Given the description of an element on the screen output the (x, y) to click on. 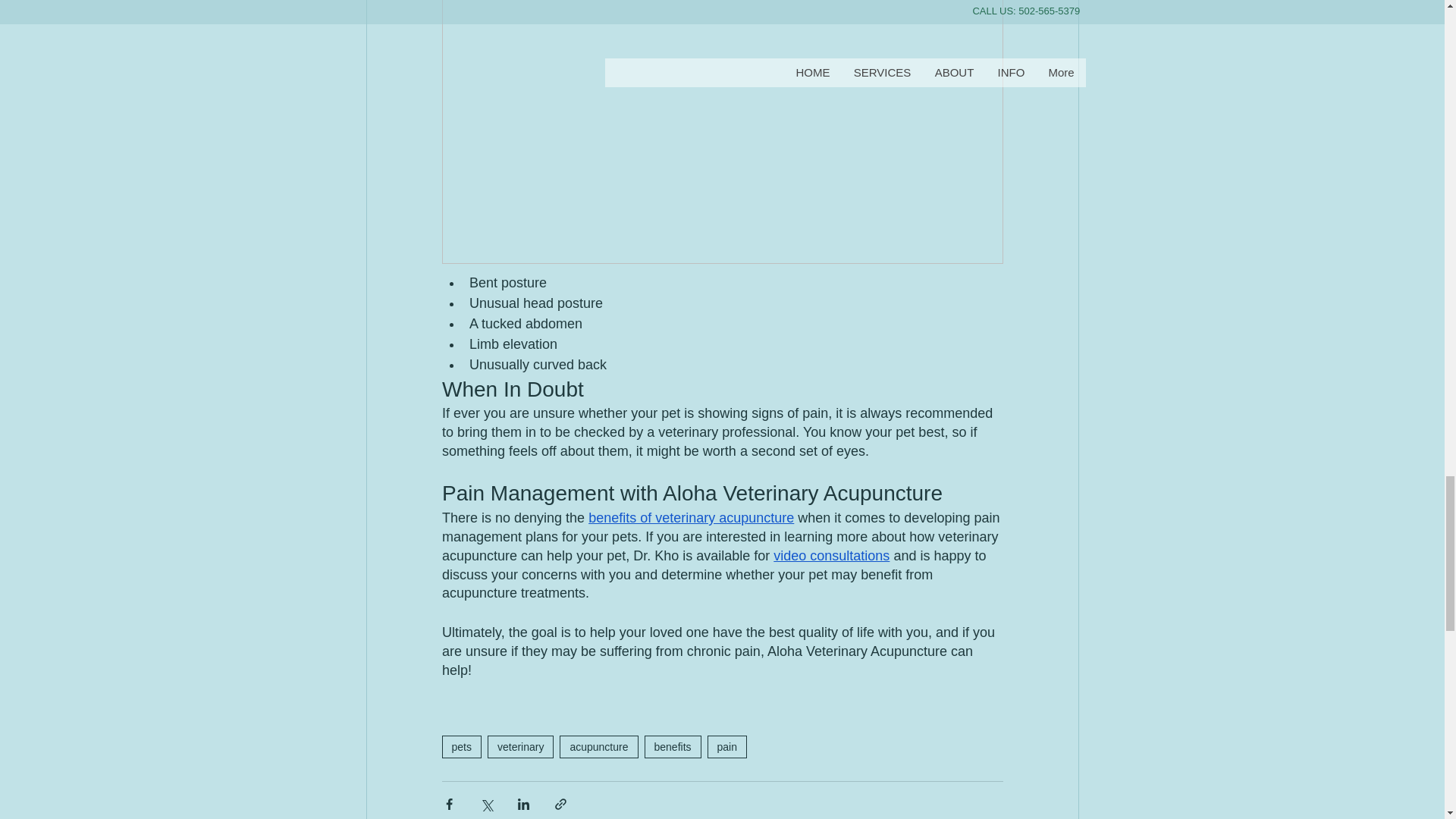
benefits of veterinary acupuncture (690, 517)
veterinary (520, 746)
acupuncture (598, 746)
benefits (673, 746)
pets (460, 746)
video consultations (831, 555)
pain (726, 746)
